Given the description of an element on the screen output the (x, y) to click on. 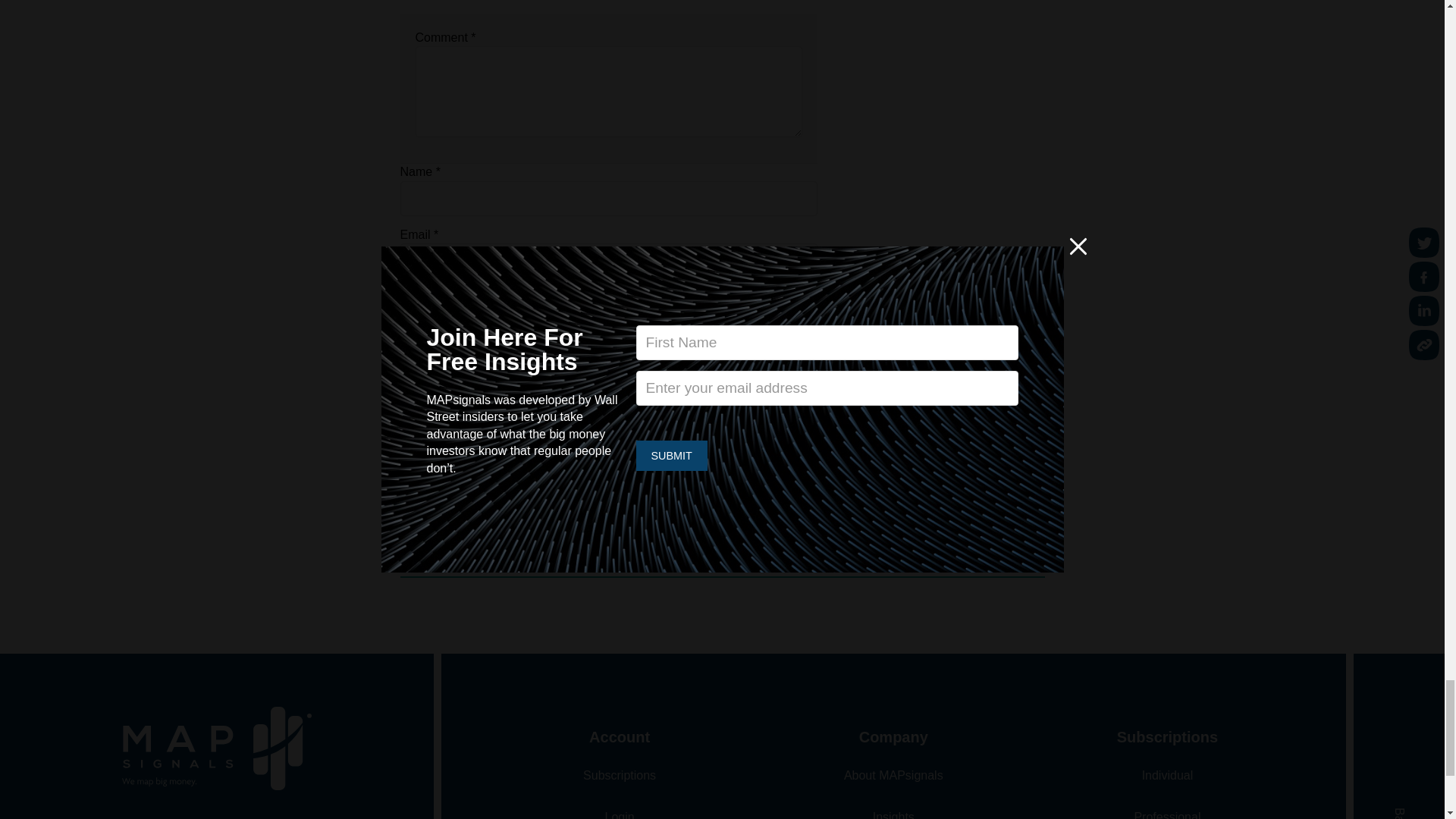
Submit Comment (465, 383)
View All (734, 530)
Subscriptions (619, 775)
Submit Comment (465, 383)
About MAPsignals (893, 775)
Login (619, 814)
